Given the description of an element on the screen output the (x, y) to click on. 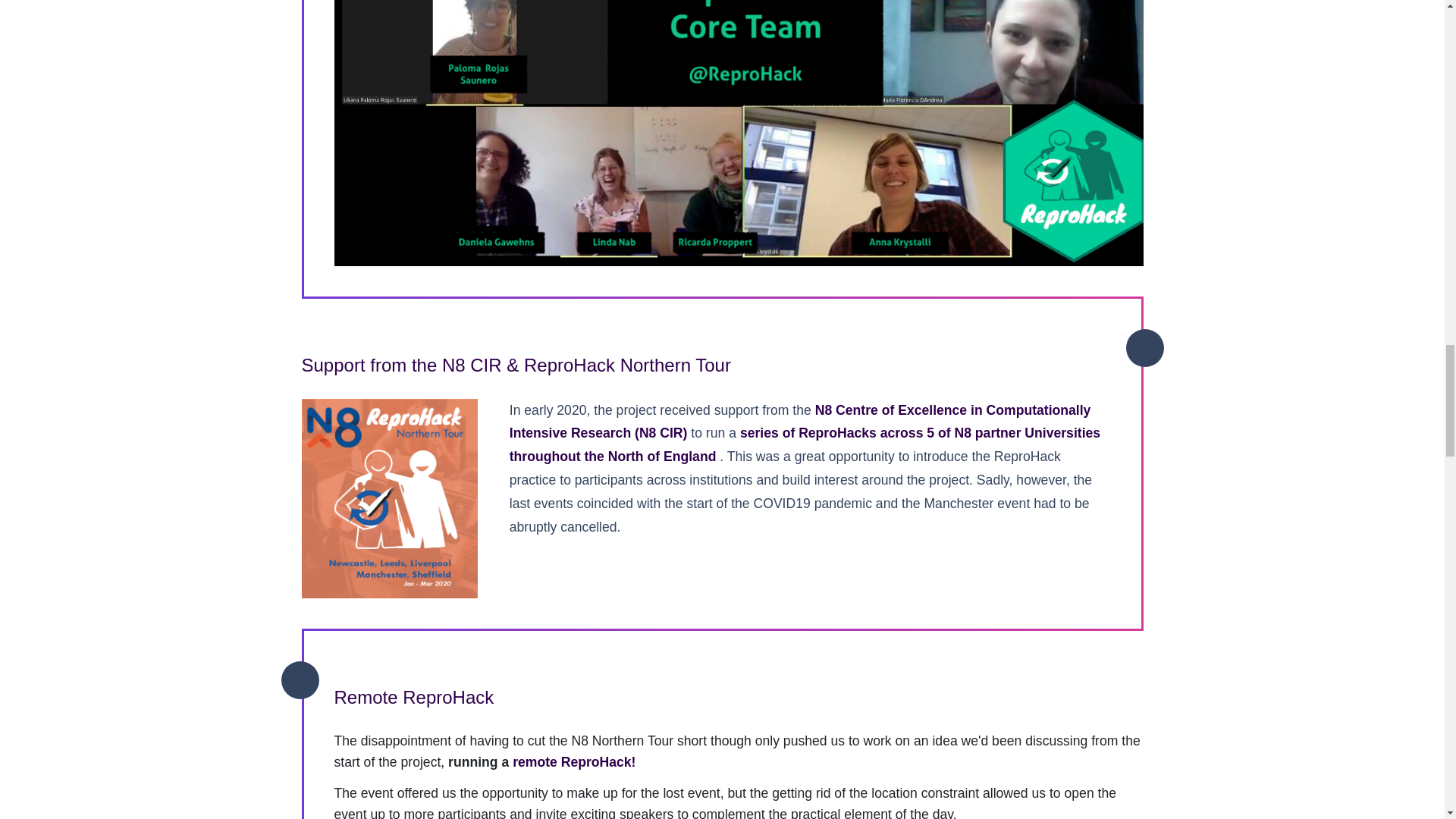
remote ReproHack! (573, 761)
